Given the description of an element on the screen output the (x, y) to click on. 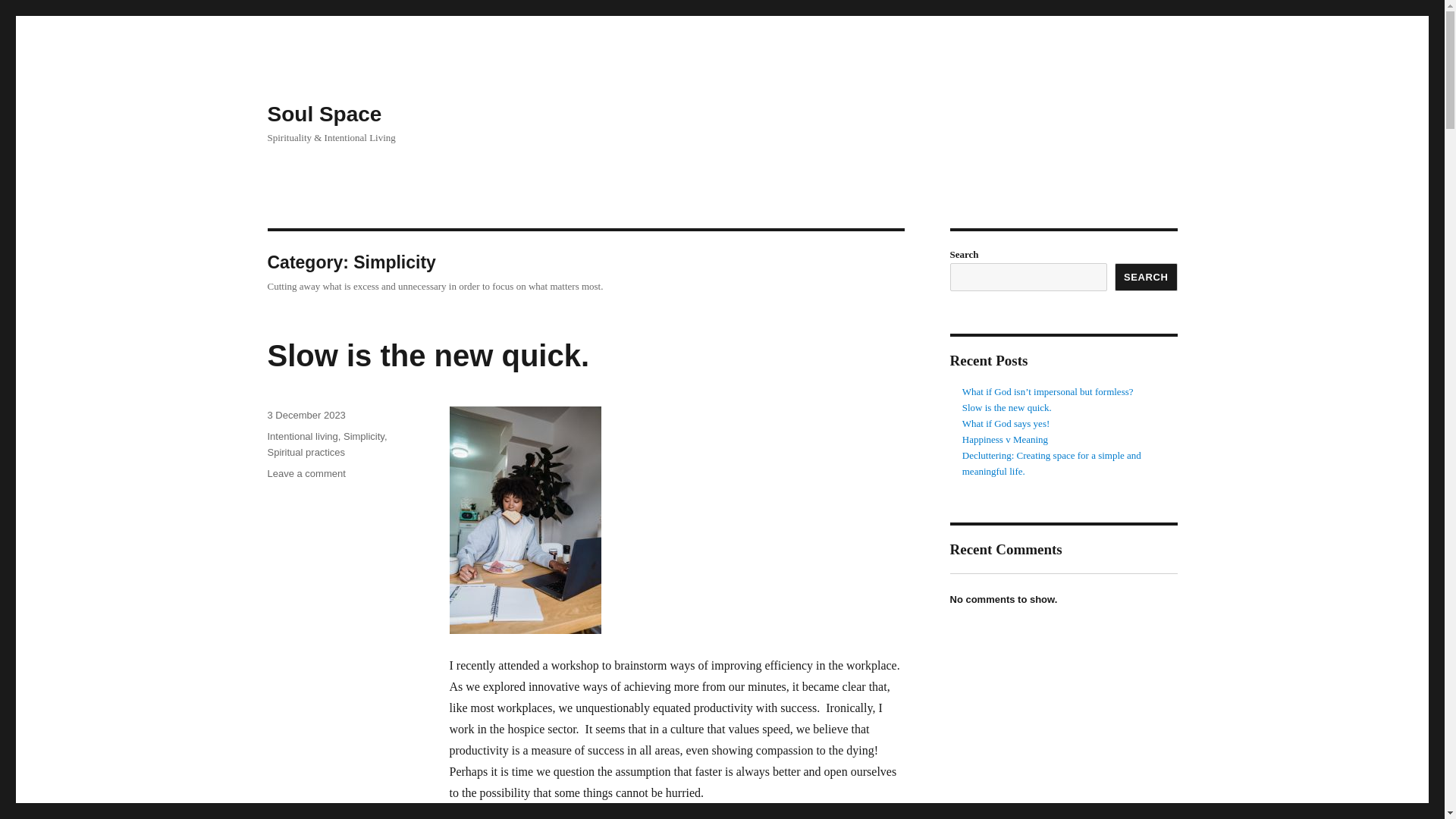
What if God says yes! (305, 473)
Slow is the new quick. (1005, 423)
Soul Space (427, 355)
Intentional living (323, 114)
SEARCH (301, 436)
3 December 2023 (1146, 276)
Slow is the new quick. (305, 414)
Simplicity (1006, 407)
